Given the description of an element on the screen output the (x, y) to click on. 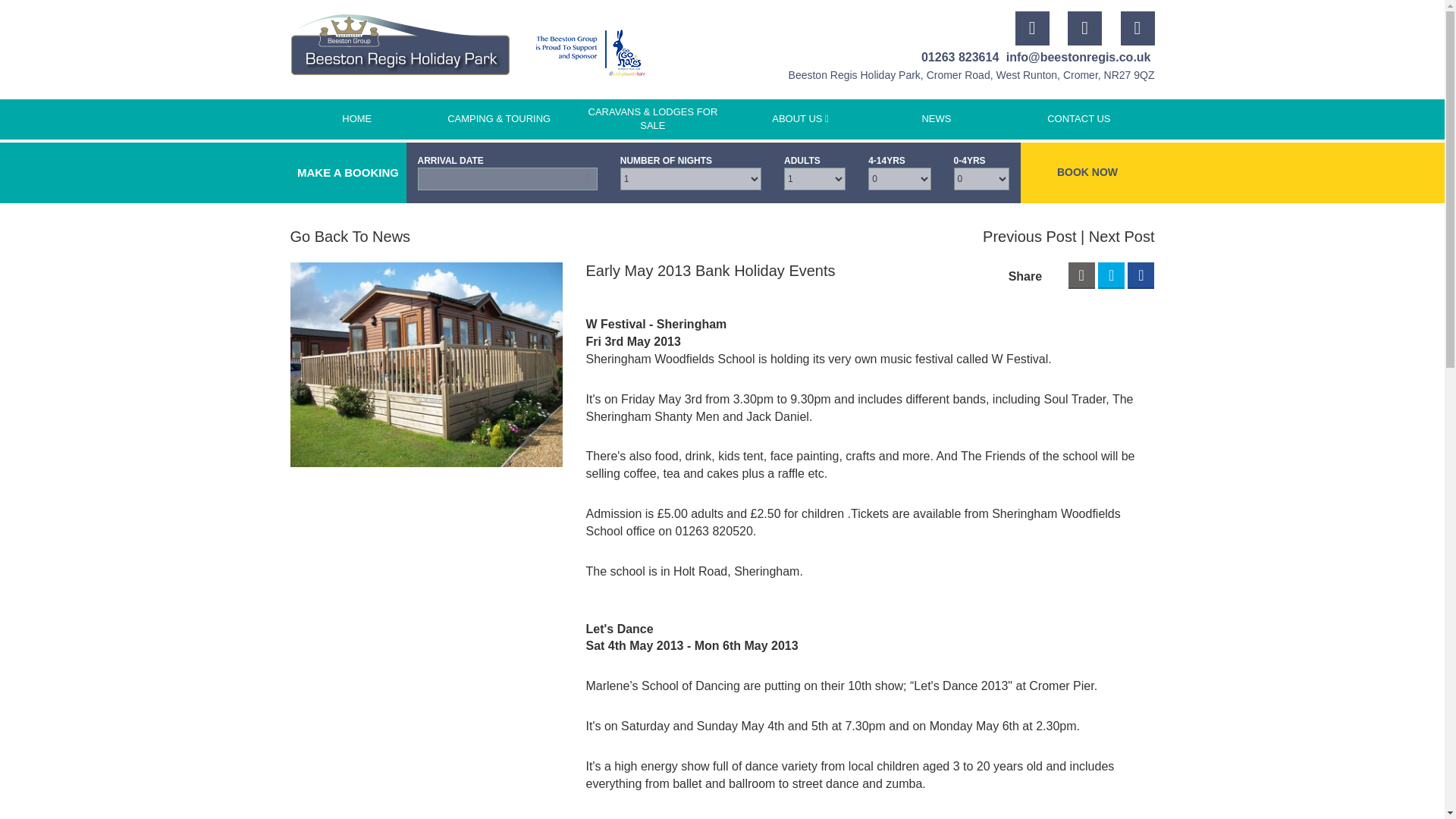
NEWS (936, 119)
ABOUT US (799, 119)
01263 823614 (959, 57)
Next Post (1121, 237)
Previous Post (1033, 237)
CONTACT US (1078, 119)
BOOK NOW (1087, 172)
HOME (356, 119)
Go Back To News (349, 237)
